Given the description of an element on the screen output the (x, y) to click on. 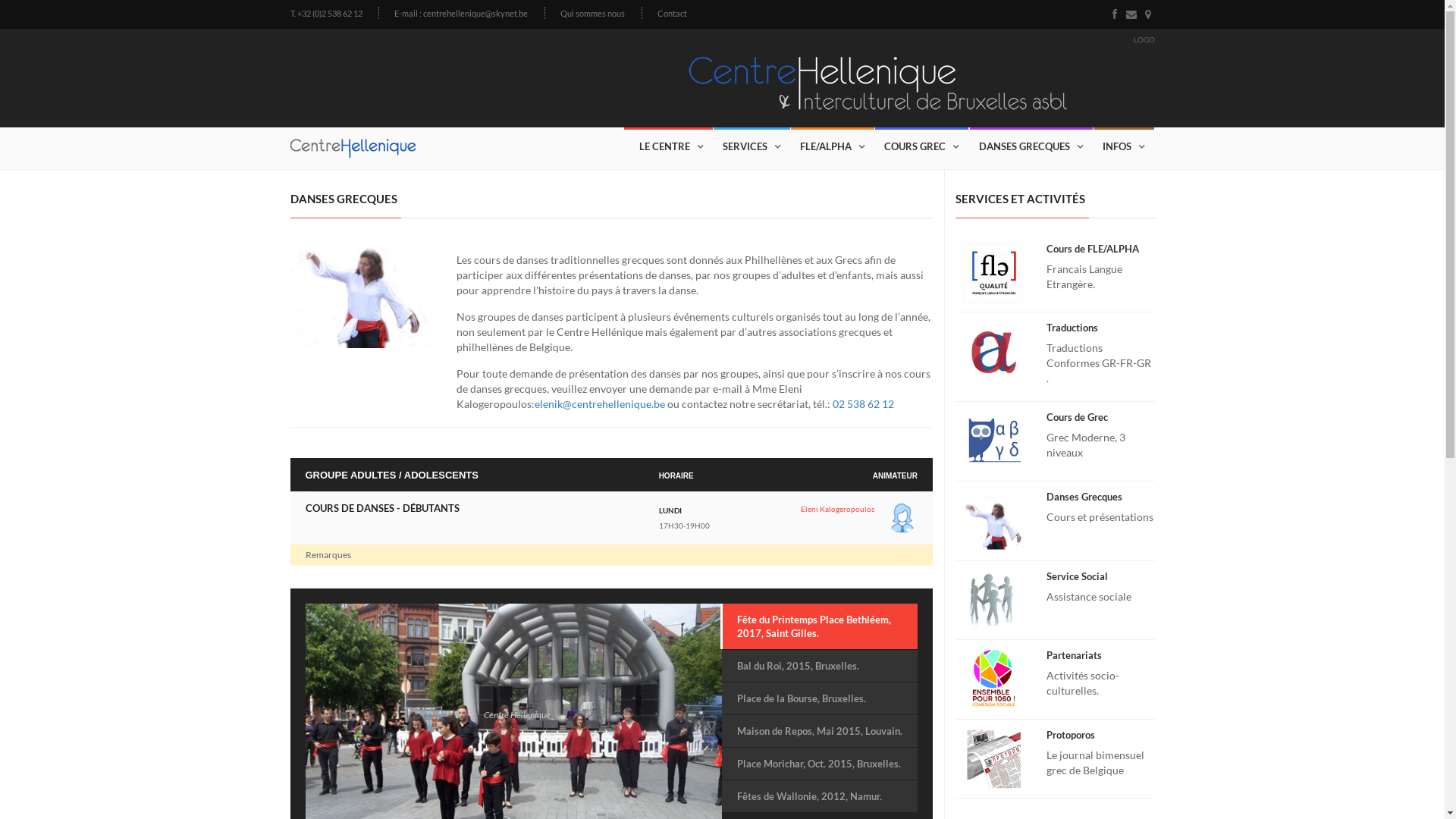
Cours de Grec Element type: text (1076, 416)
LE CENTRE Element type: text (667, 146)
INFOS Element type: text (1123, 146)
Place Morichar, Oct. 2015, Bruxelles. Element type: text (819, 763)
Traductions Element type: text (1072, 327)
T. +32 (0)2 538 62 12 Element type: text (325, 12)
elenik@centrehellenique.be Element type: text (599, 403)
COURS GREC Element type: text (921, 146)
Partenariats Element type: text (1073, 654)
Maison de Repos, Mai 2015, Louvain. Element type: text (819, 730)
02 538 62 12 Element type: text (863, 403)
E-mail : centrehellenique@skynet.be Element type: text (460, 12)
Protoporos Element type: text (1070, 734)
GROUPE ADULTES / ADOLESCENTS Element type: text (390, 475)
Bal du Roi, 2015, Bruxelles. Element type: text (819, 665)
Eleni Kalogeropoulos Element type: text (837, 508)
Service Social Element type: text (1076, 575)
Place de la Bourse, Bruxelles. Element type: text (819, 698)
Qui sommes nous Element type: text (592, 12)
FLE/ALPHA Element type: text (831, 146)
SERVICES Element type: text (750, 146)
Danses Grecques Element type: text (1084, 496)
Contact Element type: text (672, 12)
DANSES GRECQUES Element type: text (1030, 146)
Cours de FLE/ALPHA Element type: text (1092, 248)
